Given the description of an element on the screen output the (x, y) to click on. 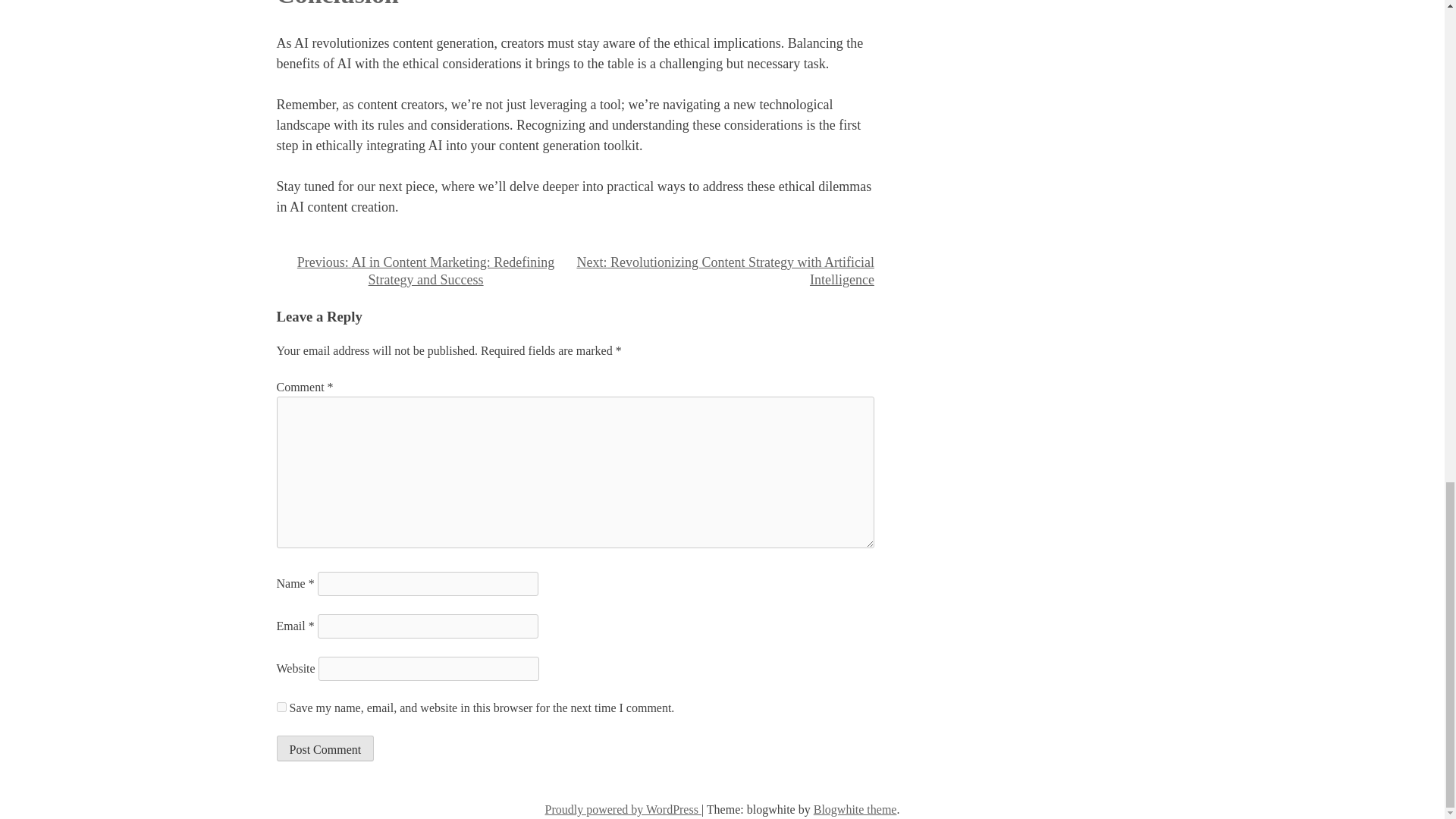
Blogwhite theme (854, 809)
yes (280, 706)
Post Comment (325, 748)
Post Comment (325, 748)
Proudly powered by WordPress (622, 809)
